Given the description of an element on the screen output the (x, y) to click on. 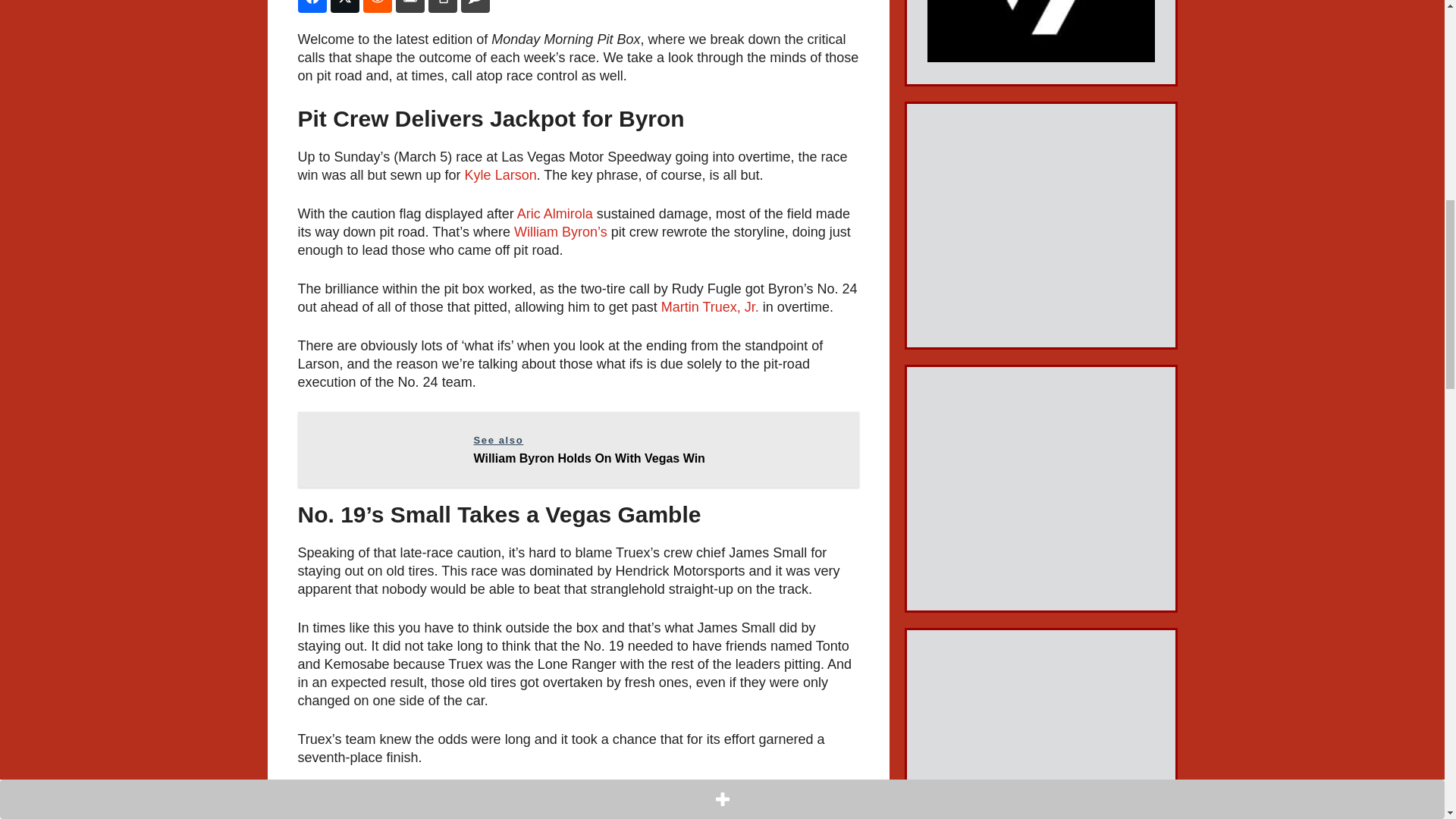
Scroll back to top (1406, 720)
Share on Comments (475, 6)
Share on Email (410, 6)
Share on Reddit (376, 6)
Aric Almirola (554, 213)
Share on Copy Link (442, 6)
Share on Twitter (578, 449)
Kyle Larson (344, 6)
Martin Truex, Jr. (500, 174)
